Given the description of an element on the screen output the (x, y) to click on. 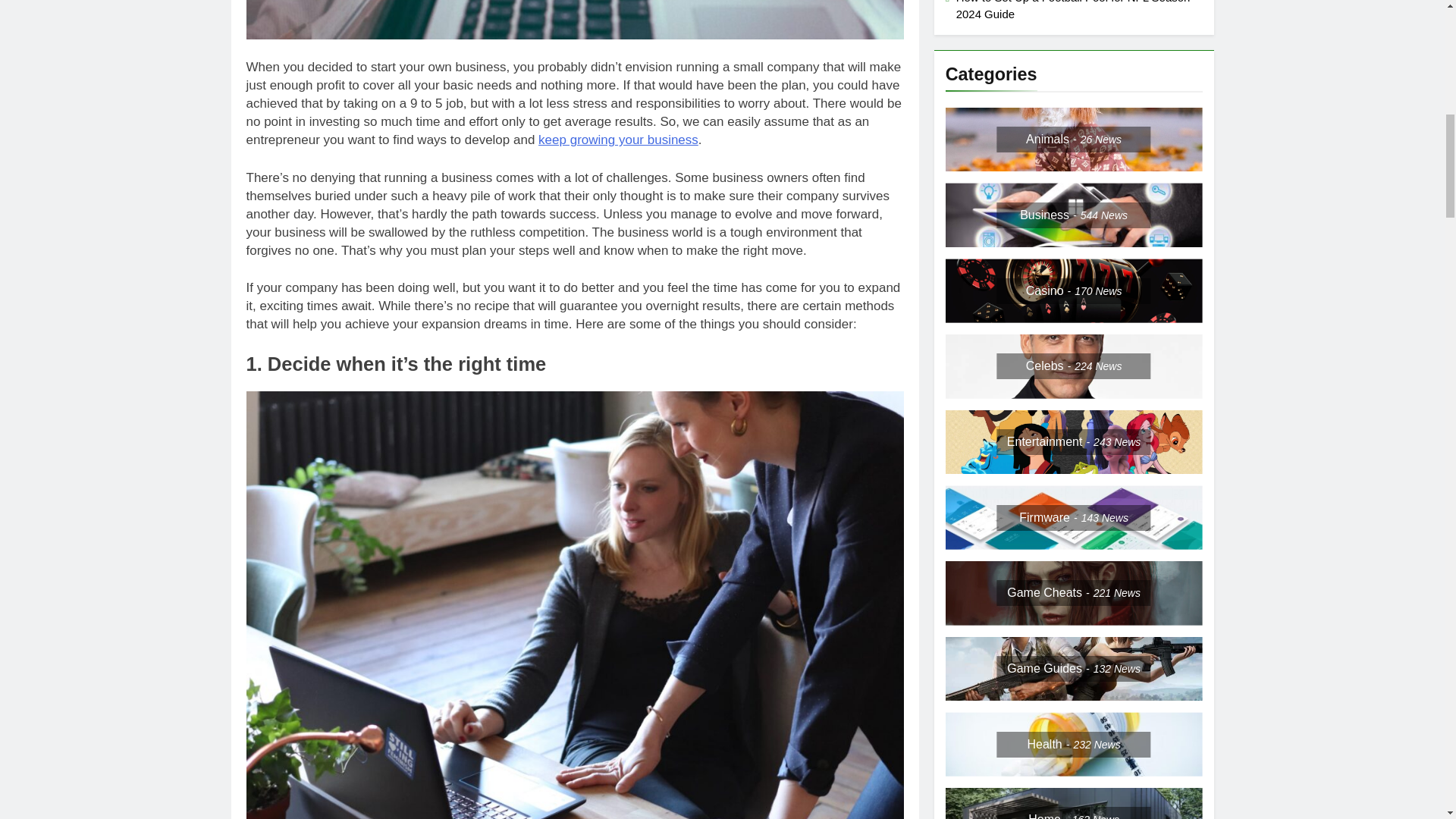
keep growing your business (618, 139)
